Given the description of an element on the screen output the (x, y) to click on. 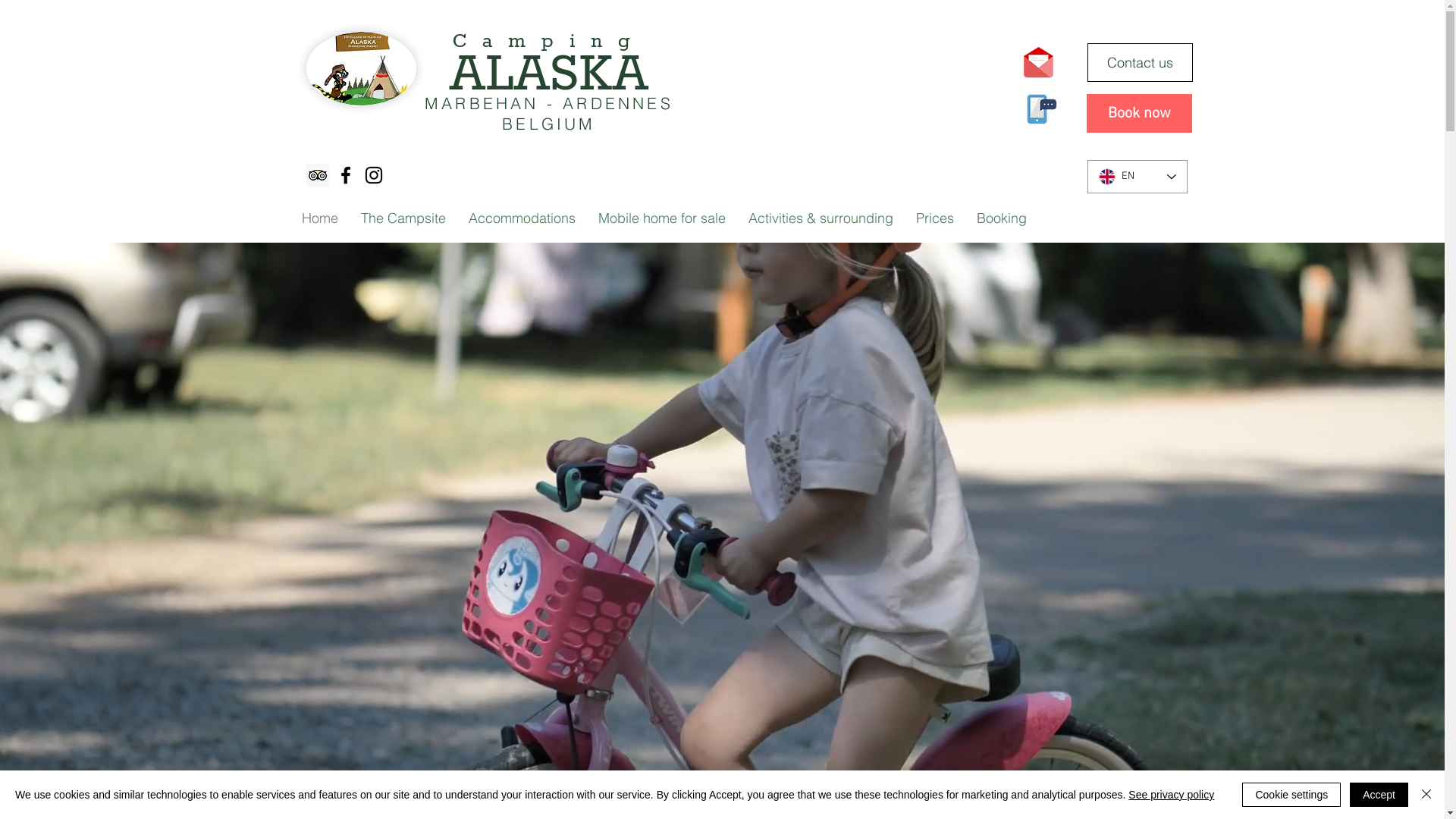
Activities & surrounding Element type: text (820, 218)
Cookie settings Element type: text (1291, 794)
Nous contacter Element type: hover (1037, 108)
Accept Element type: text (1378, 794)
Home Element type: text (318, 218)
Booking Element type: text (1000, 218)
Accommodations Element type: text (521, 218)
Contact us Element type: text (1139, 62)
Book now Element type: text (1138, 113)
Mobile home for sale Element type: text (661, 218)
Nous contacter Element type: hover (1037, 62)
See privacy policy Element type: text (1171, 794)
The Campsite Element type: text (402, 218)
Prices Element type: text (933, 218)
